Given the description of an element on the screen output the (x, y) to click on. 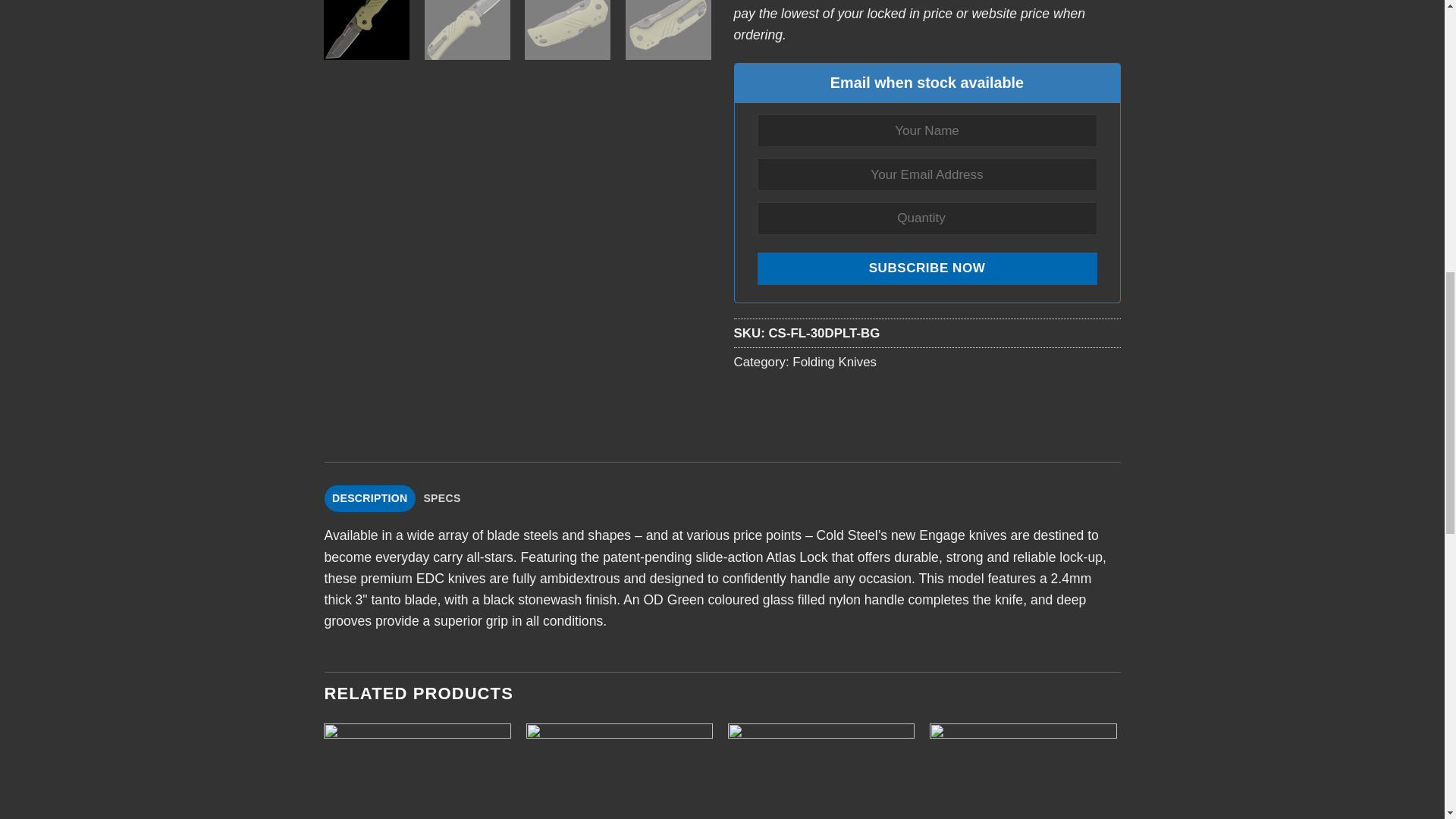
Subscribe Now (926, 268)
